Given the description of an element on the screen output the (x, y) to click on. 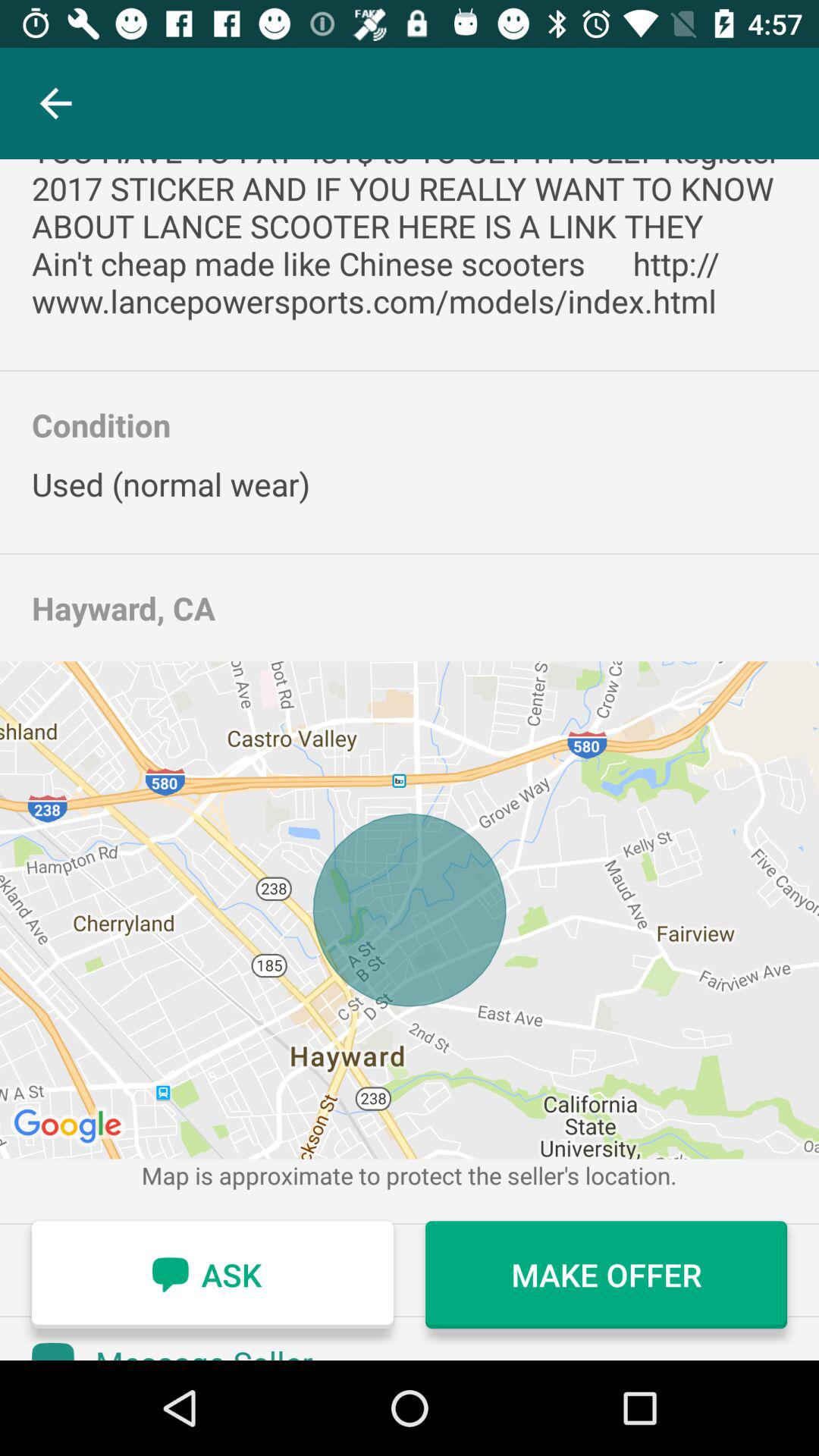
flip to ask icon (212, 1274)
